Given the description of an element on the screen output the (x, y) to click on. 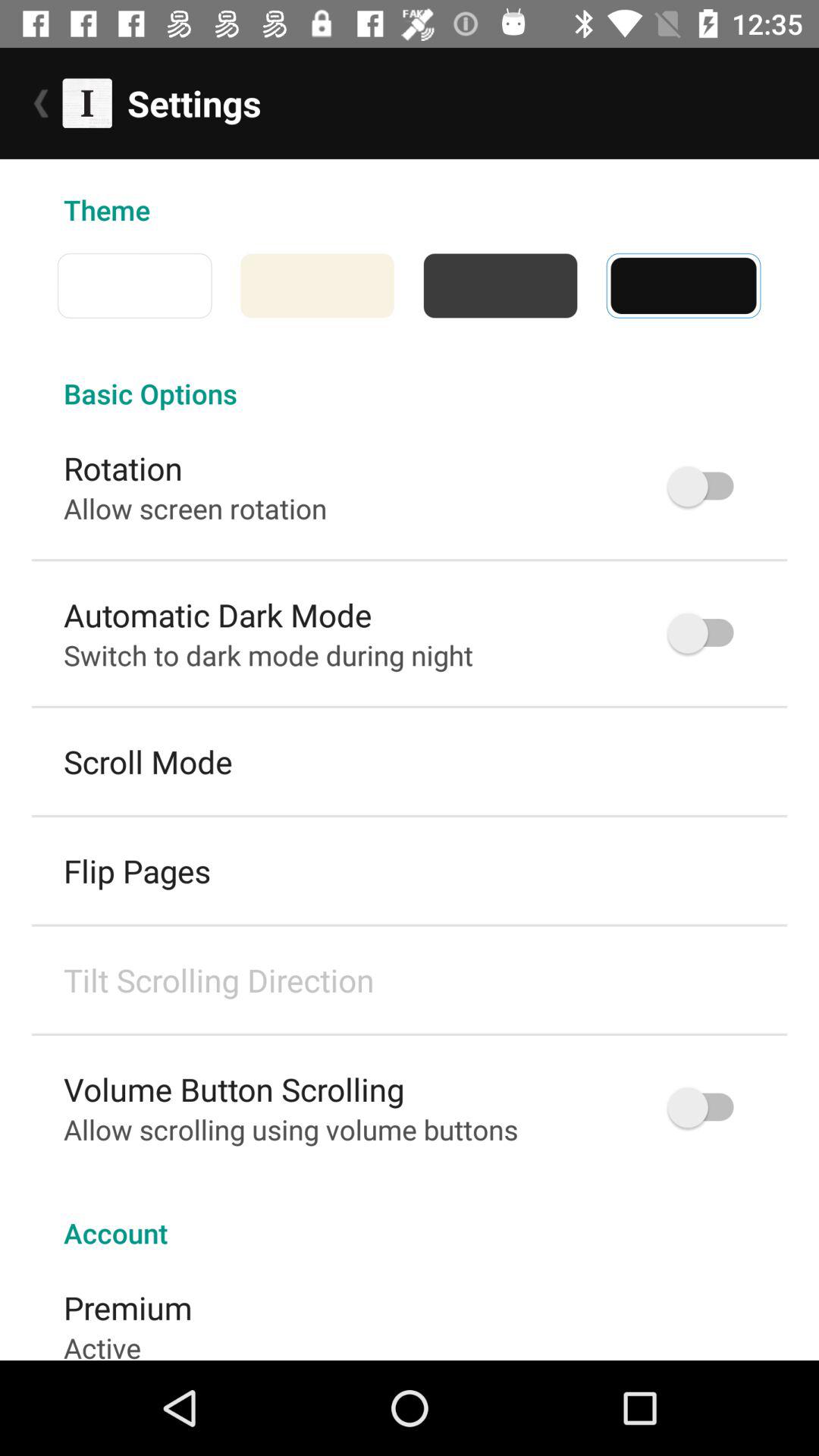
jump to the tilt scrolling direction (218, 979)
